Given the description of an element on the screen output the (x, y) to click on. 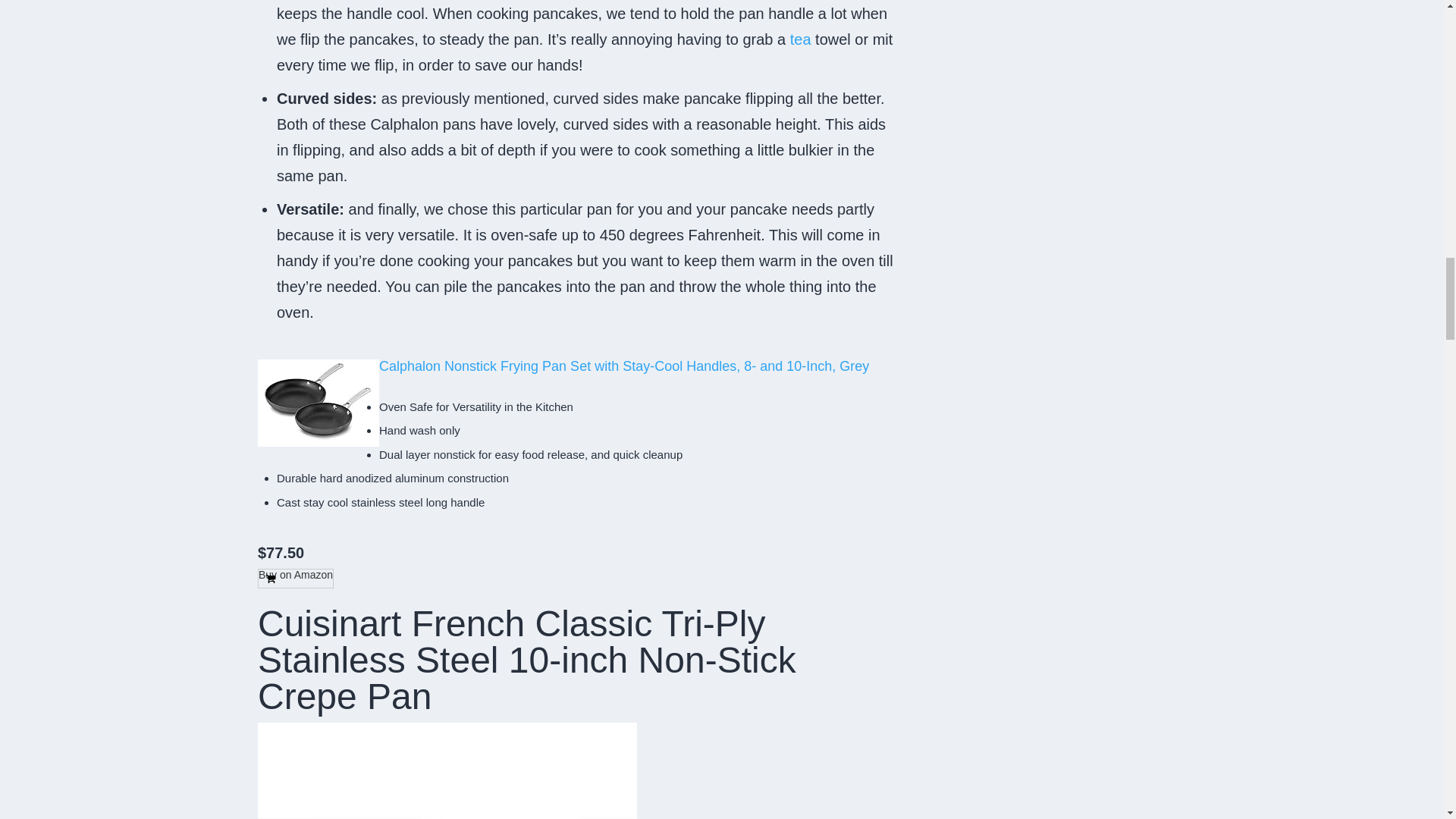
Buy on Amazon (295, 578)
